Given the description of an element on the screen output the (x, y) to click on. 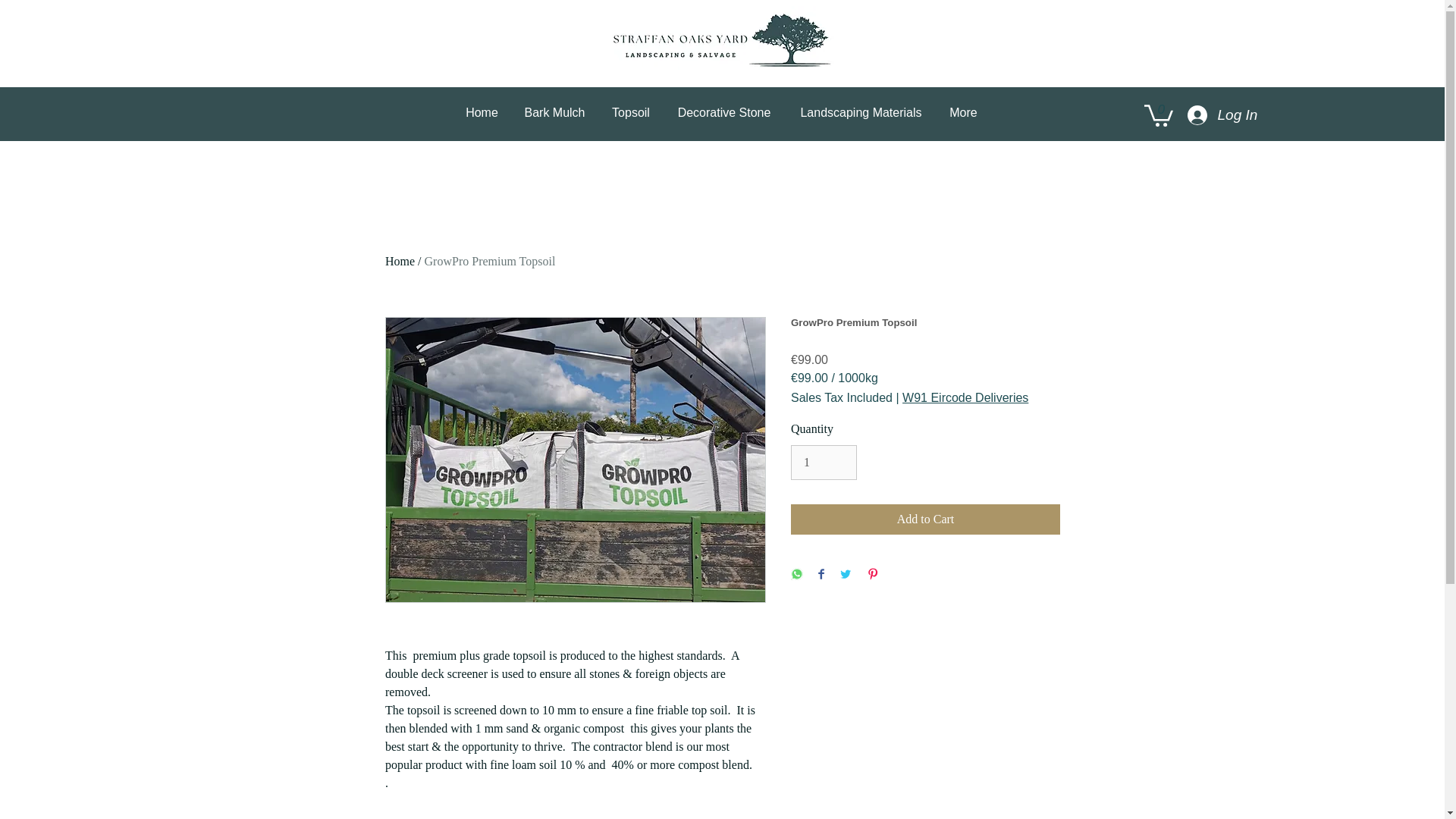
Home (399, 260)
Home (481, 112)
Landscaping Materials (861, 112)
1 (823, 462)
Add to Cart (924, 519)
0 (1157, 114)
0 (1157, 114)
GrowPro Premium Topsoil (490, 260)
Decorative Stone (723, 112)
Bark Mulch (554, 112)
